Given the description of an element on the screen output the (x, y) to click on. 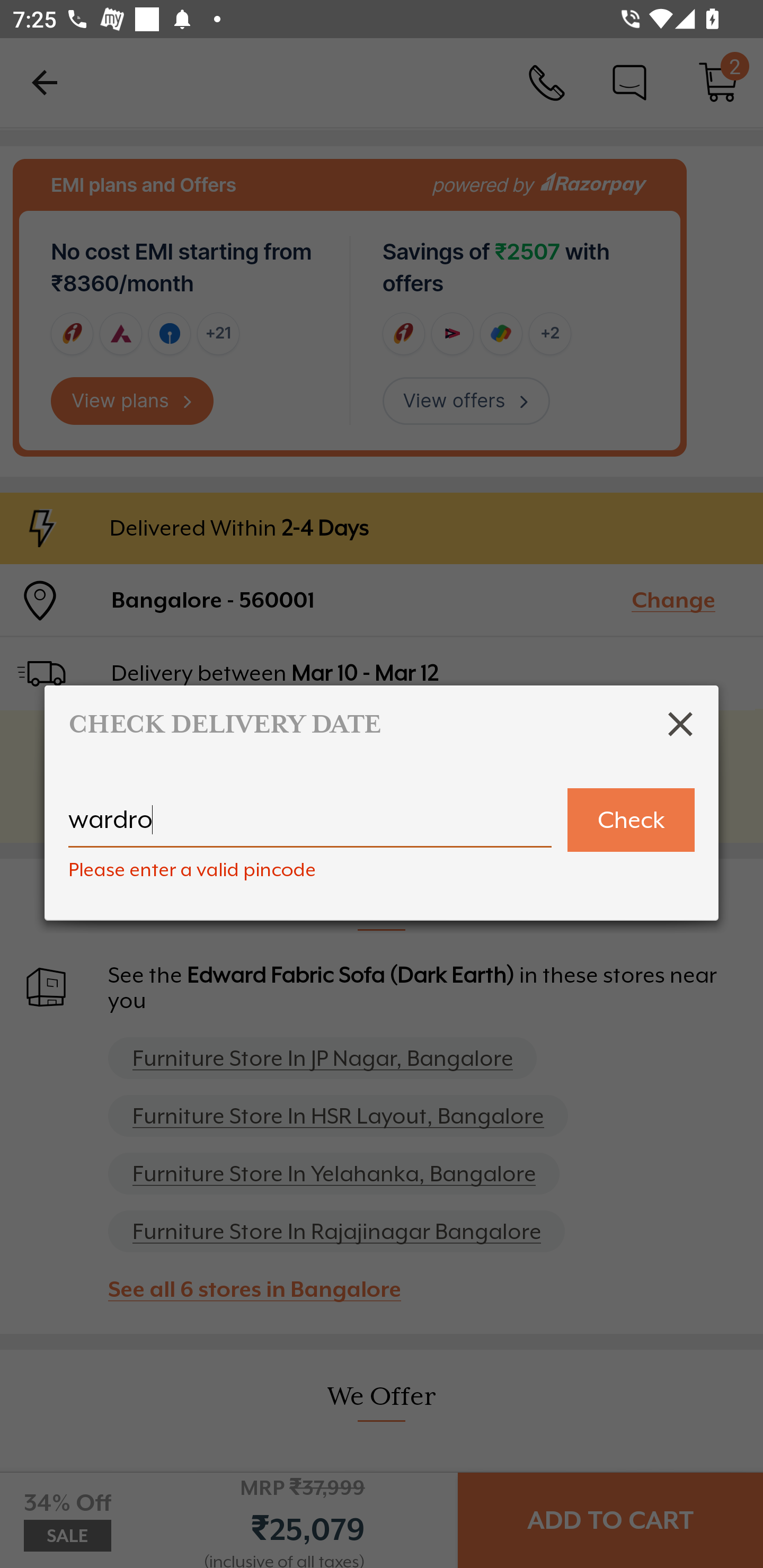
 (680, 723)
Check (630, 819)
wardro (309, 827)
